Given the description of an element on the screen output the (x, y) to click on. 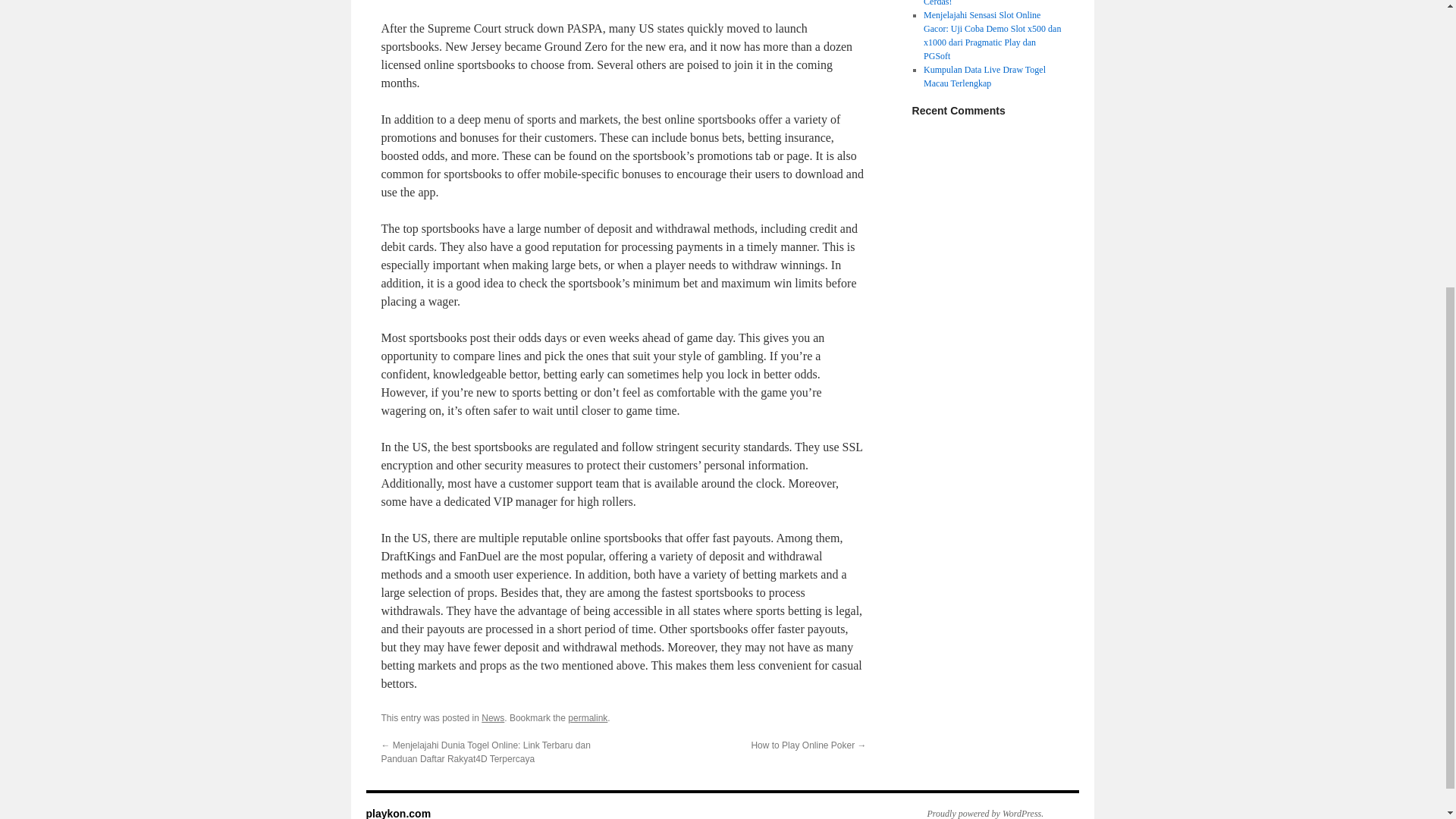
News (492, 717)
Kumpulan Data Live Draw Togel Macau Terlengkap (984, 76)
permalink (587, 717)
Permalink to Gambling Online in the US (587, 717)
